Given the description of an element on the screen output the (x, y) to click on. 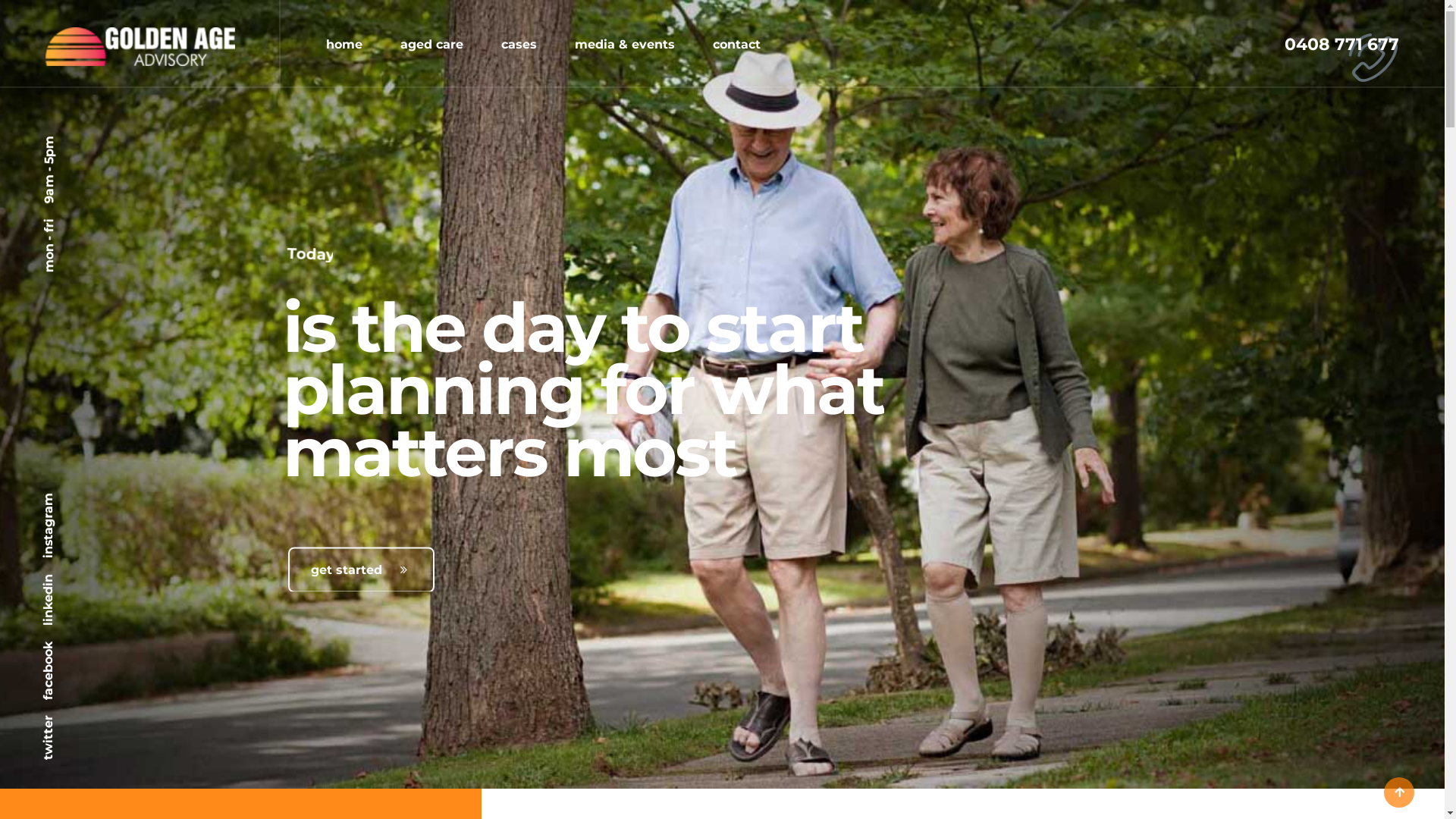
media & events Element type: text (624, 43)
twitter Element type: text (62, 722)
contact Element type: text (736, 43)
home Element type: text (344, 43)
cases Element type: text (518, 43)
linkedin Element type: text (66, 581)
Go top Element type: hover (1398, 791)
aged care Element type: text (431, 43)
get started Element type: text (361, 568)
Golden Age Advisory Element type: hover (140, 45)
instagram Element type: text (73, 499)
0408 771 677 Element type: text (1341, 44)
facebook Element type: text (69, 648)
